Given the description of an element on the screen output the (x, y) to click on. 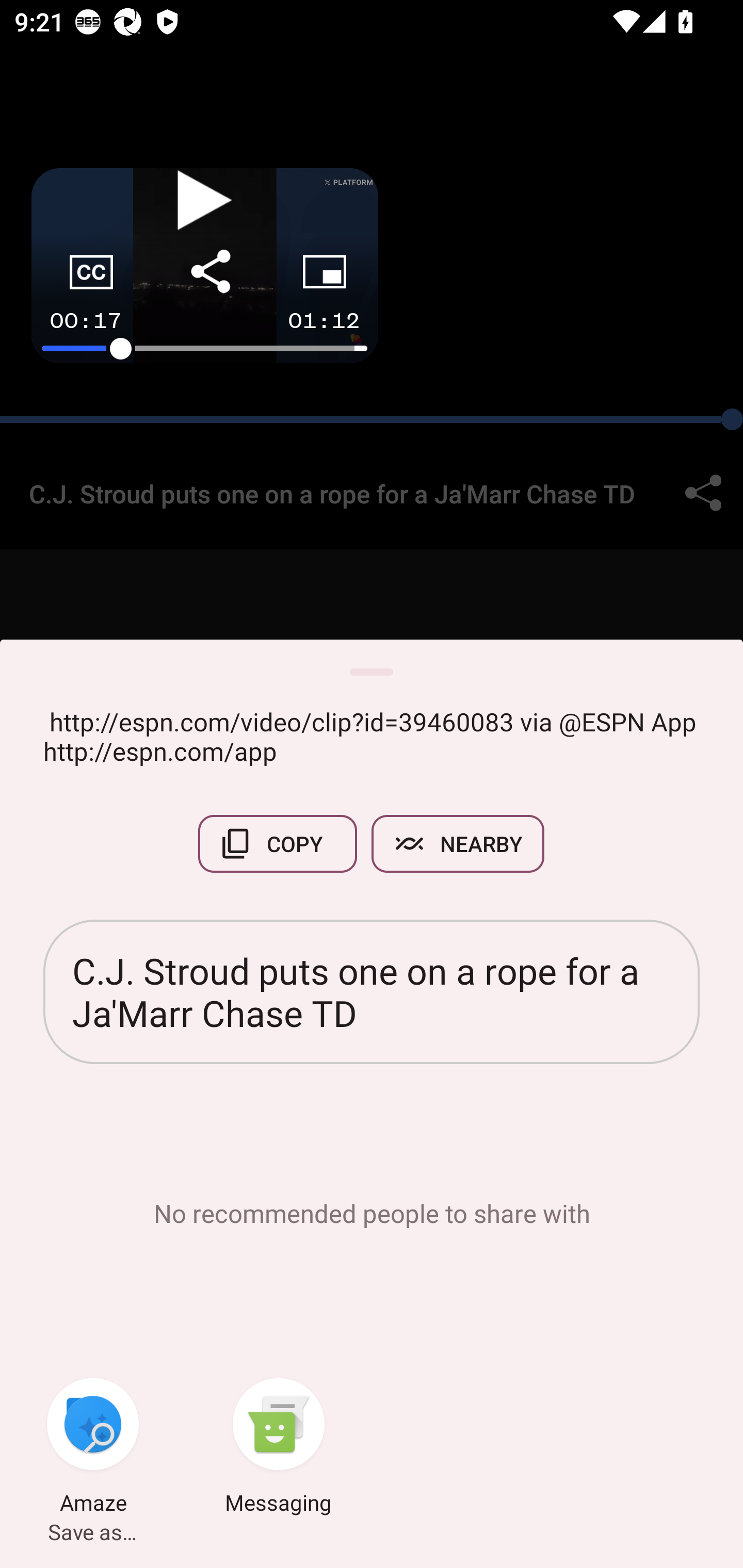
COPY (277, 844)
NEARBY (457, 844)
Amaze Save as… (92, 1448)
Messaging (278, 1448)
